Given the description of an element on the screen output the (x, y) to click on. 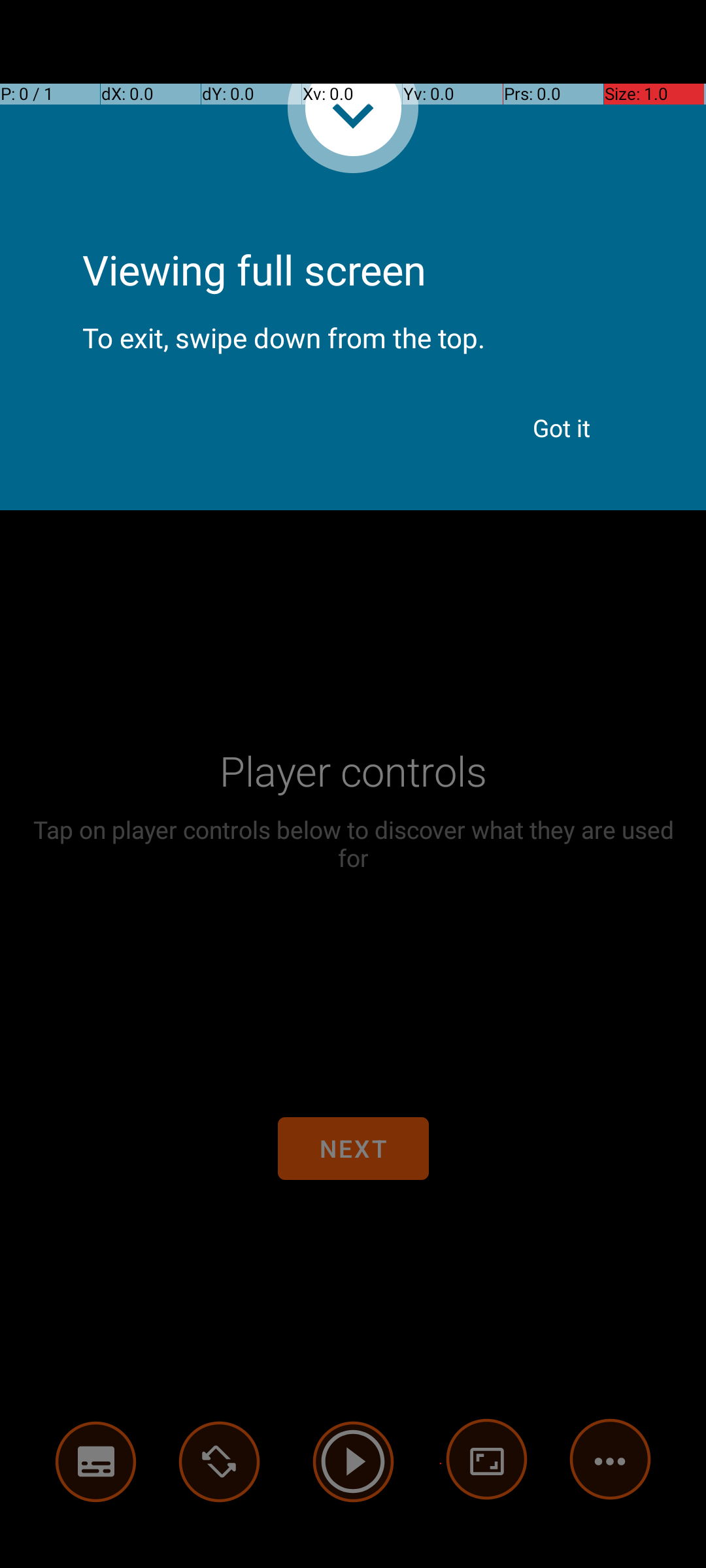
Video player. Tap to show controls. Tap the back button to hide them Element type: android.widget.FrameLayout (353, 784)
Video player tips Element type: android.widget.TextView (400, 145)
Player controls Element type: android.widget.TextView (353, 770)
Tap on player controls below to discover what they are used for Element type: android.widget.TextView (352, 843)
advanced options Element type: android.widget.ImageView (486, 1461)
Viewing full screen Element type: android.widget.TextView (353, 235)
To exit, swipe down from the top. Element type: android.widget.TextView (353, 326)
Got it Element type: android.widget.Button (561, 427)
